Given the description of an element on the screen output the (x, y) to click on. 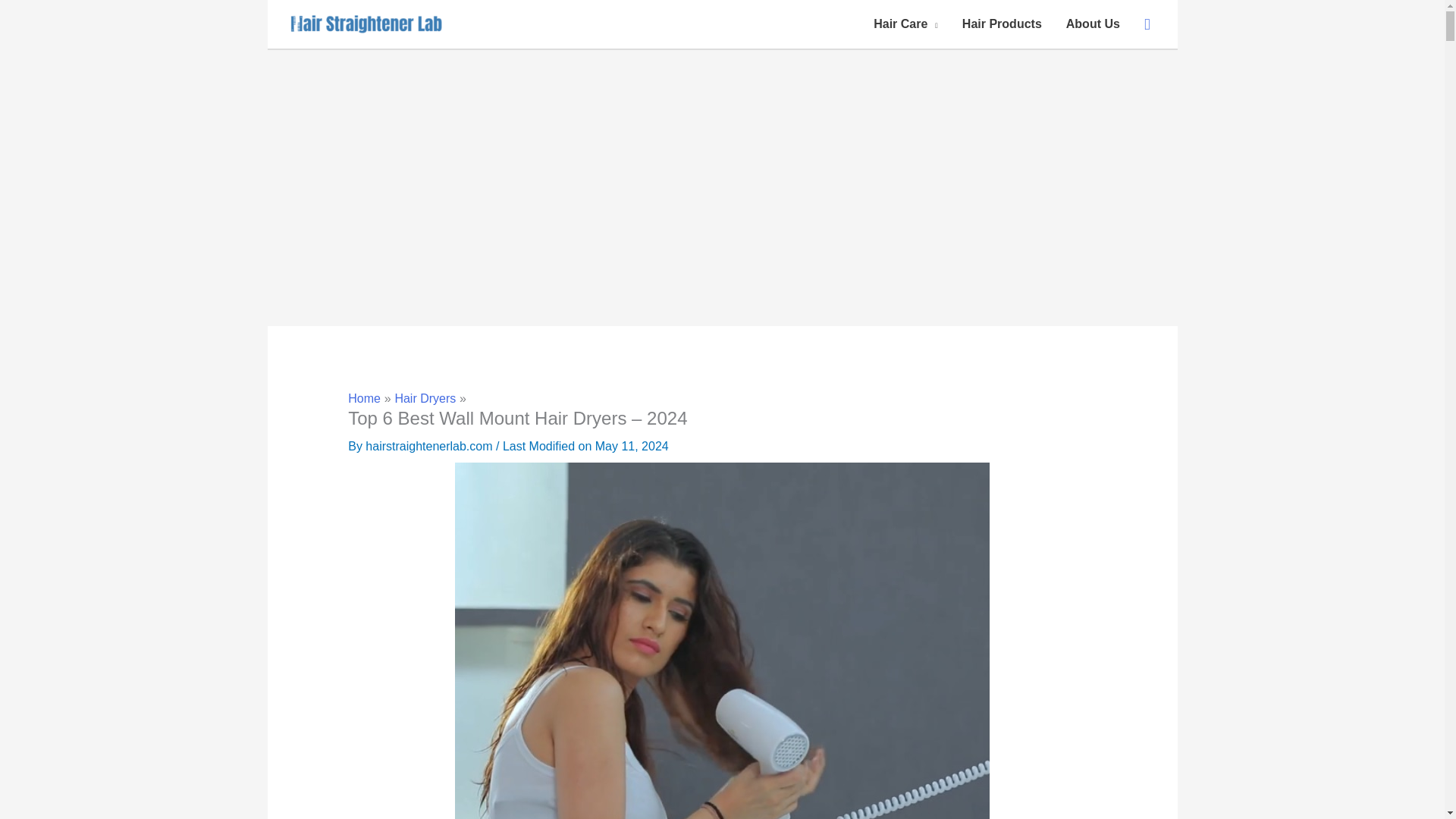
Hair Dryers (424, 398)
Hair Products (1002, 24)
Home (363, 398)
View all posts by hairstraightenerlab.com (430, 445)
Hair Care (905, 24)
About Us (1093, 24)
hairstraightenerlab.com (430, 445)
